Given the description of an element on the screen output the (x, y) to click on. 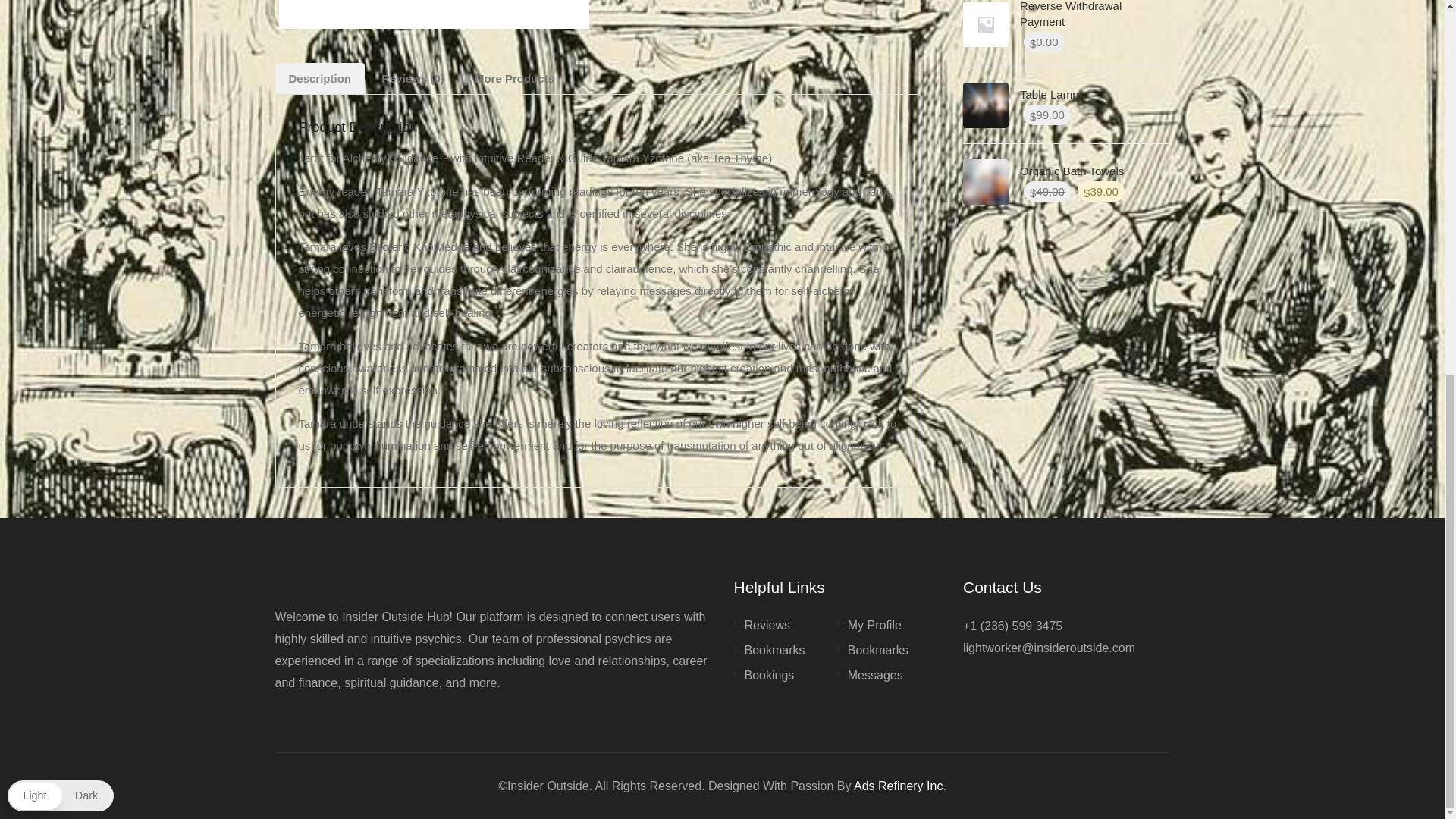
Description (320, 78)
More Products (514, 78)
